Given the description of an element on the screen output the (x, y) to click on. 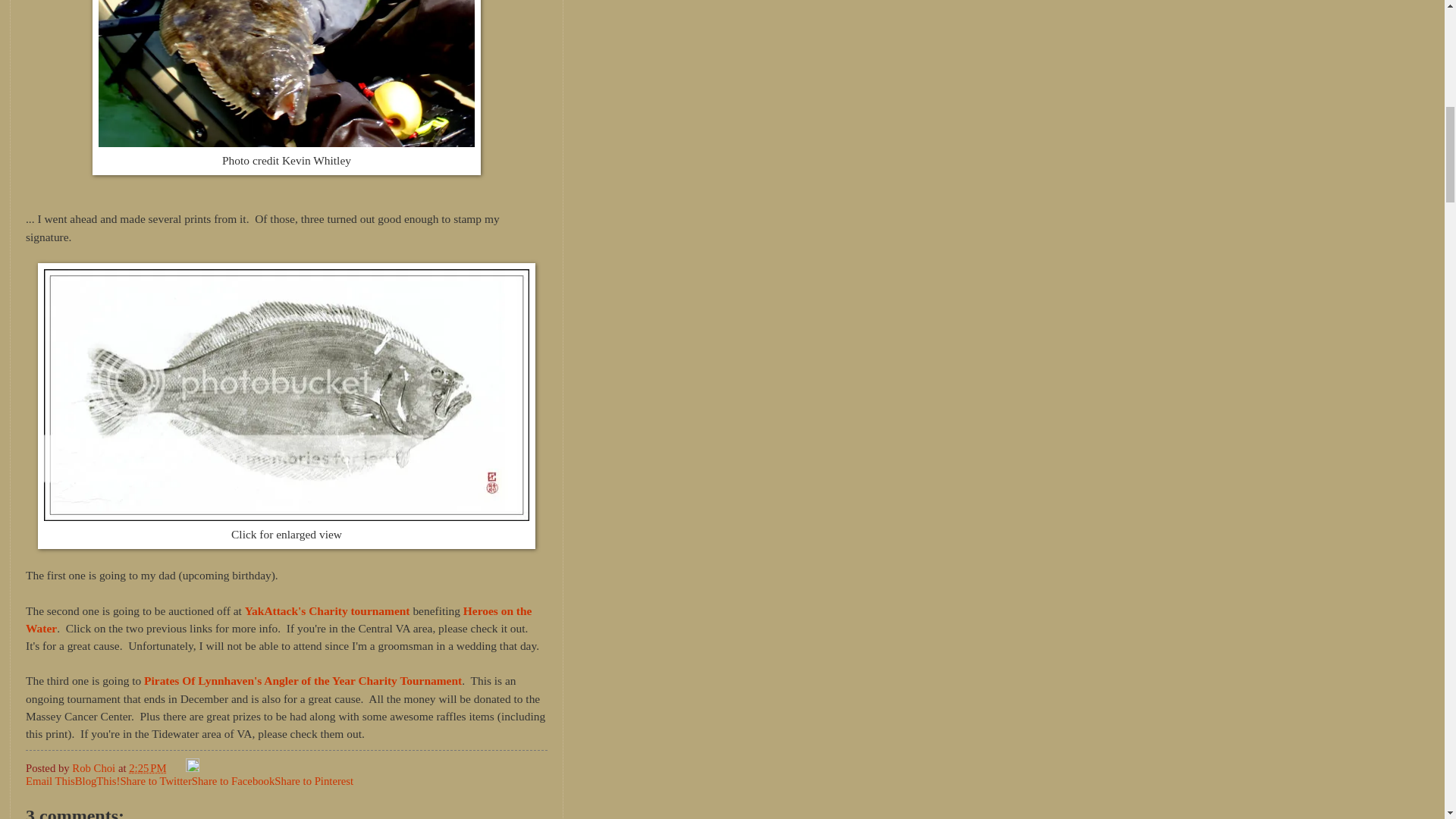
Share to Facebook (233, 780)
Edit Post (192, 767)
Email This (50, 780)
BlogThis! (97, 780)
author profile (94, 767)
permanent link (147, 767)
Share to Pinterest (314, 780)
Email This (50, 780)
Email Post (177, 767)
Share to Pinterest (314, 780)
Share to Facebook (233, 780)
Share to Twitter (154, 780)
BlogThis! (97, 780)
Pirates Of Lynnhaven's Angler of the Year Charity Tournament (302, 680)
